Given the description of an element on the screen output the (x, y) to click on. 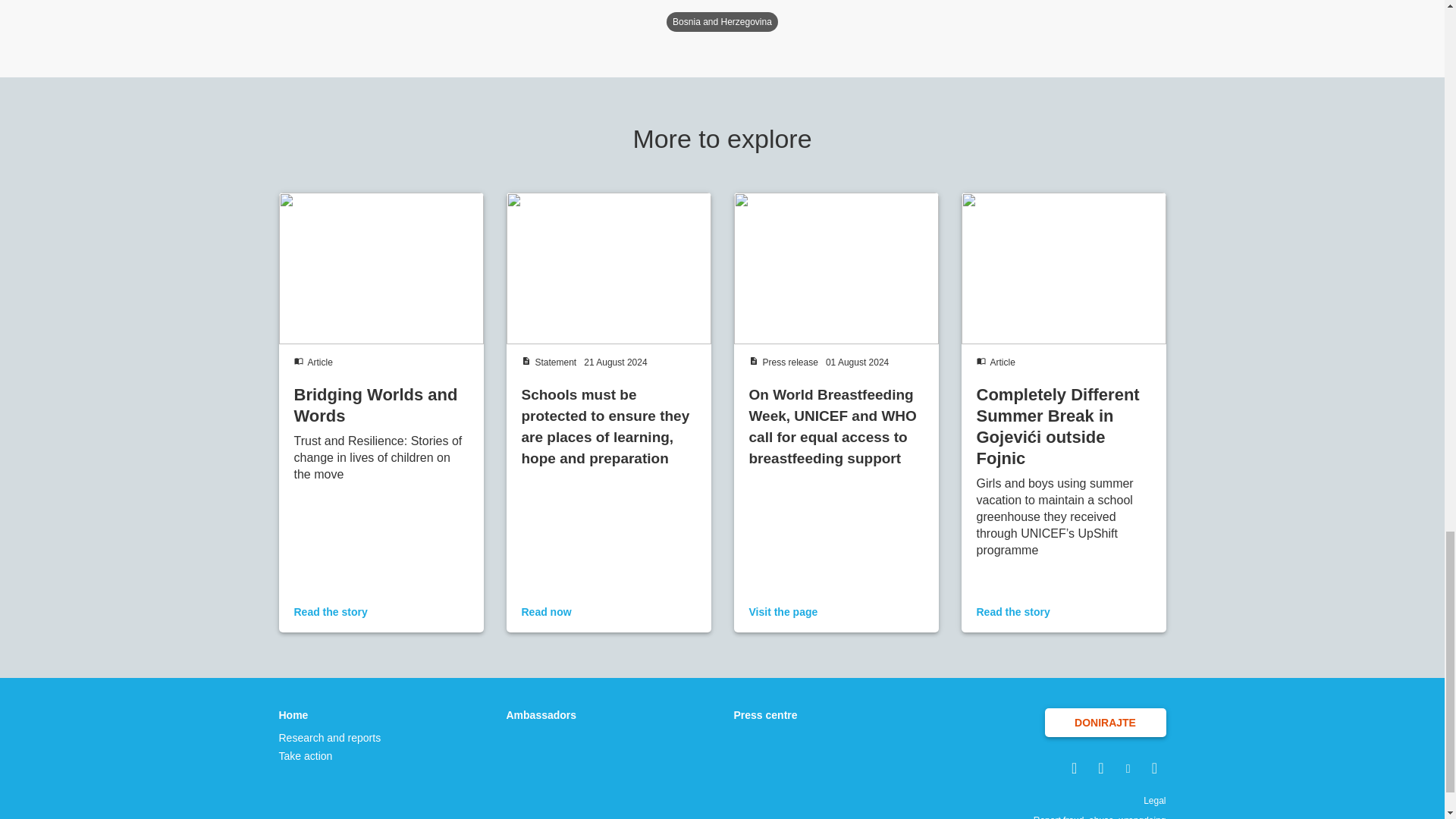
Legal (1154, 800)
Take action (330, 755)
Research and reports (330, 737)
Press centre (765, 714)
DONIRAJTE (1105, 722)
Bosnia and Herzegovina (721, 21)
Research and reports (330, 737)
Home (330, 714)
Home (330, 714)
Take action (330, 755)
